Given the description of an element on the screen output the (x, y) to click on. 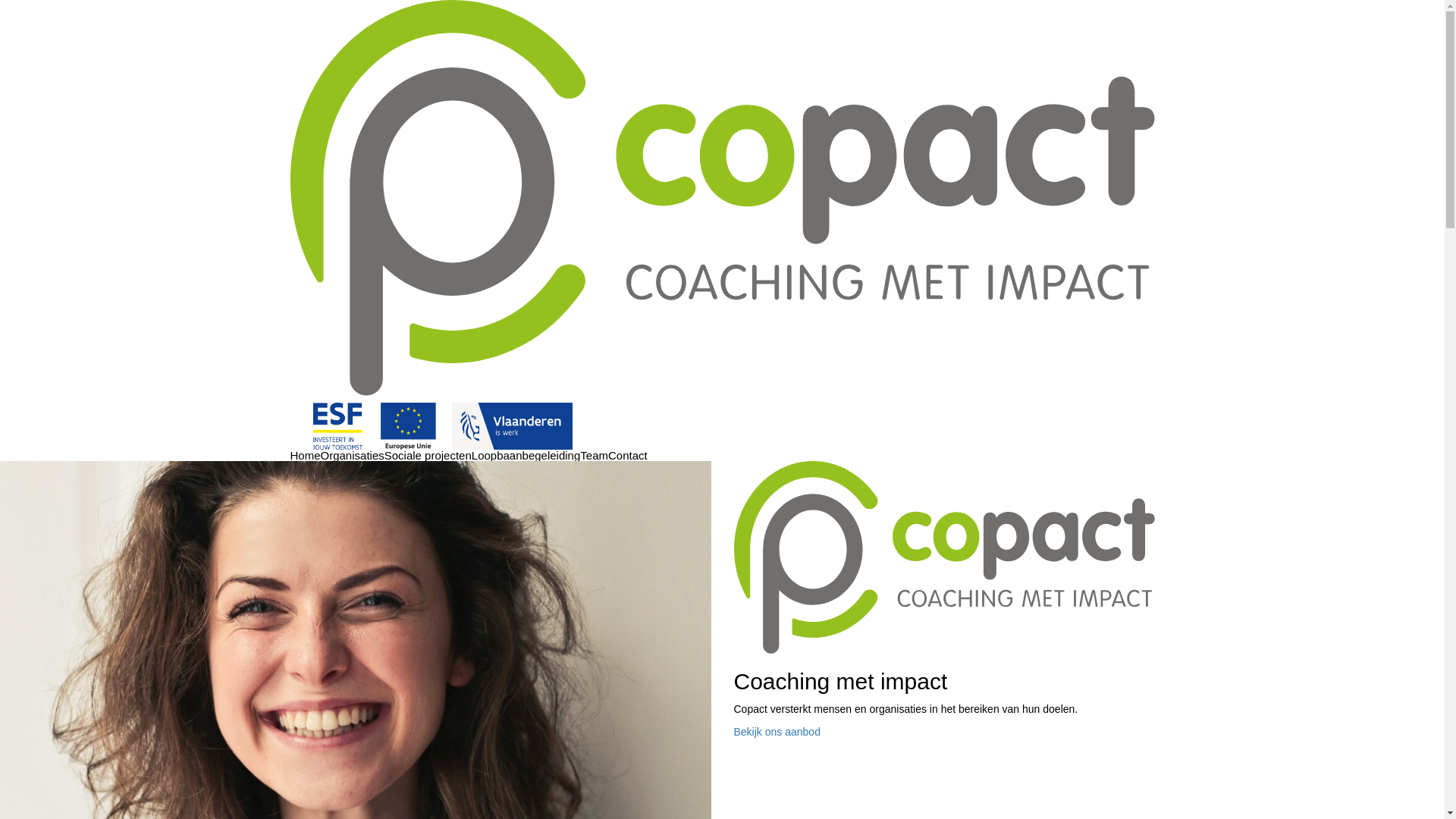
Bekijk ons aanbod Element type: text (777, 731)
Loopbaanbegeleiding Element type: text (525, 454)
Sociale projecten Element type: text (427, 454)
Team Element type: text (594, 454)
Contact Element type: text (627, 454)
Organisaties Element type: text (352, 454)
Home Element type: text (304, 454)
